Given the description of an element on the screen output the (x, y) to click on. 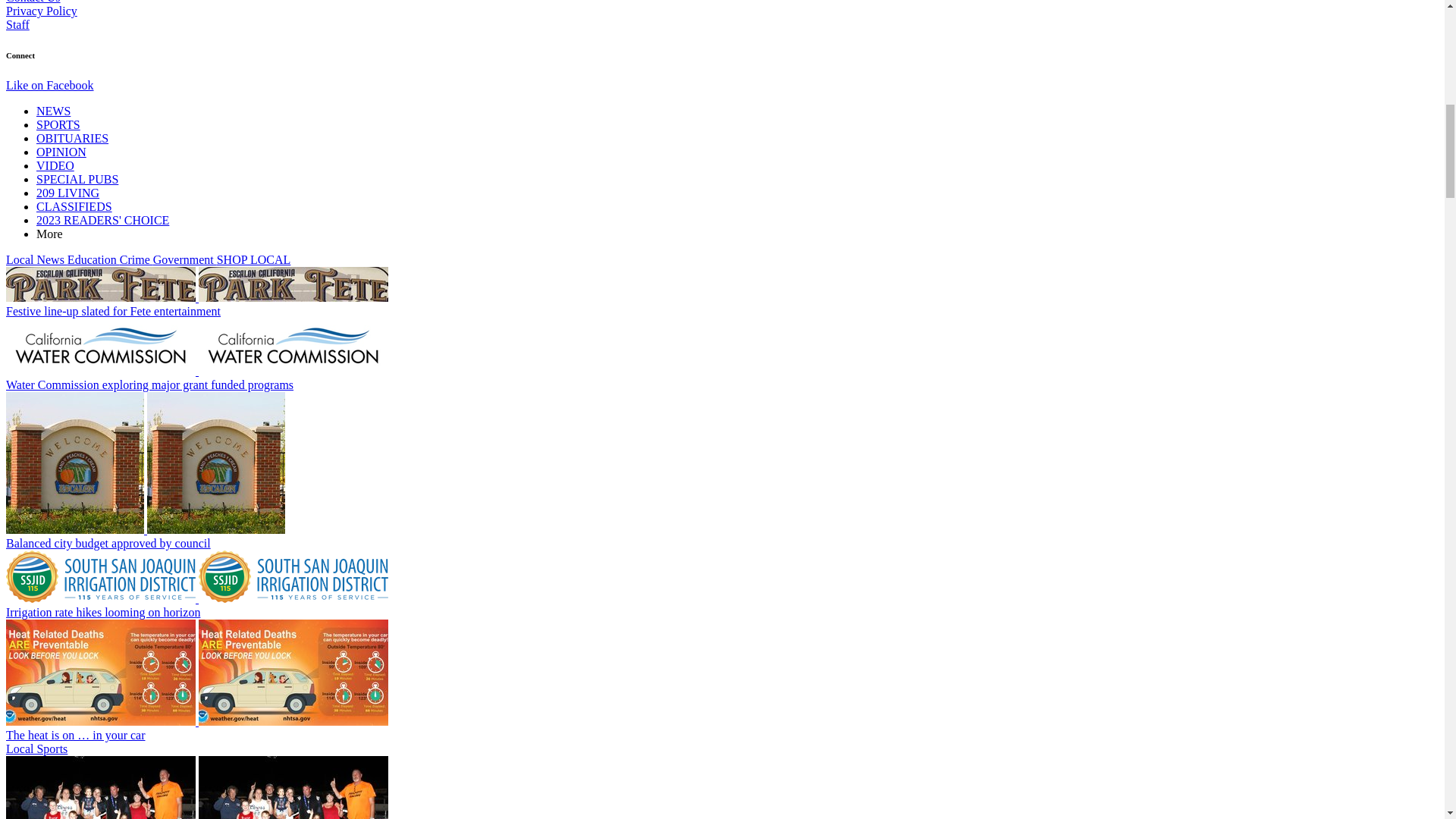
Contact Us (33, 2)
Staff (17, 24)
Privacy Policy (41, 10)
